Given the description of an element on the screen output the (x, y) to click on. 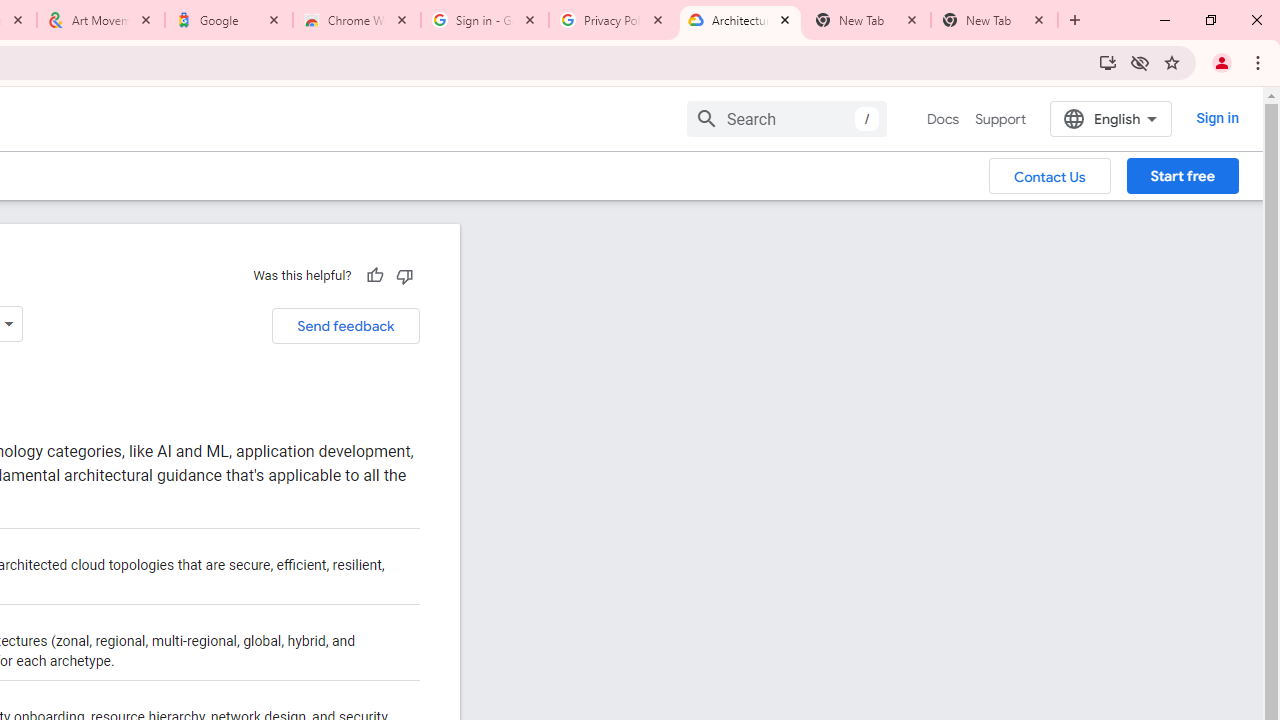
Support (1000, 119)
Google (229, 20)
Docs, selected (942, 119)
Sign in - Google Accounts (485, 20)
Helpful (374, 275)
New Tab (994, 20)
Chrome Web Store - Color themes by Chrome (357, 20)
